Given the description of an element on the screen output the (x, y) to click on. 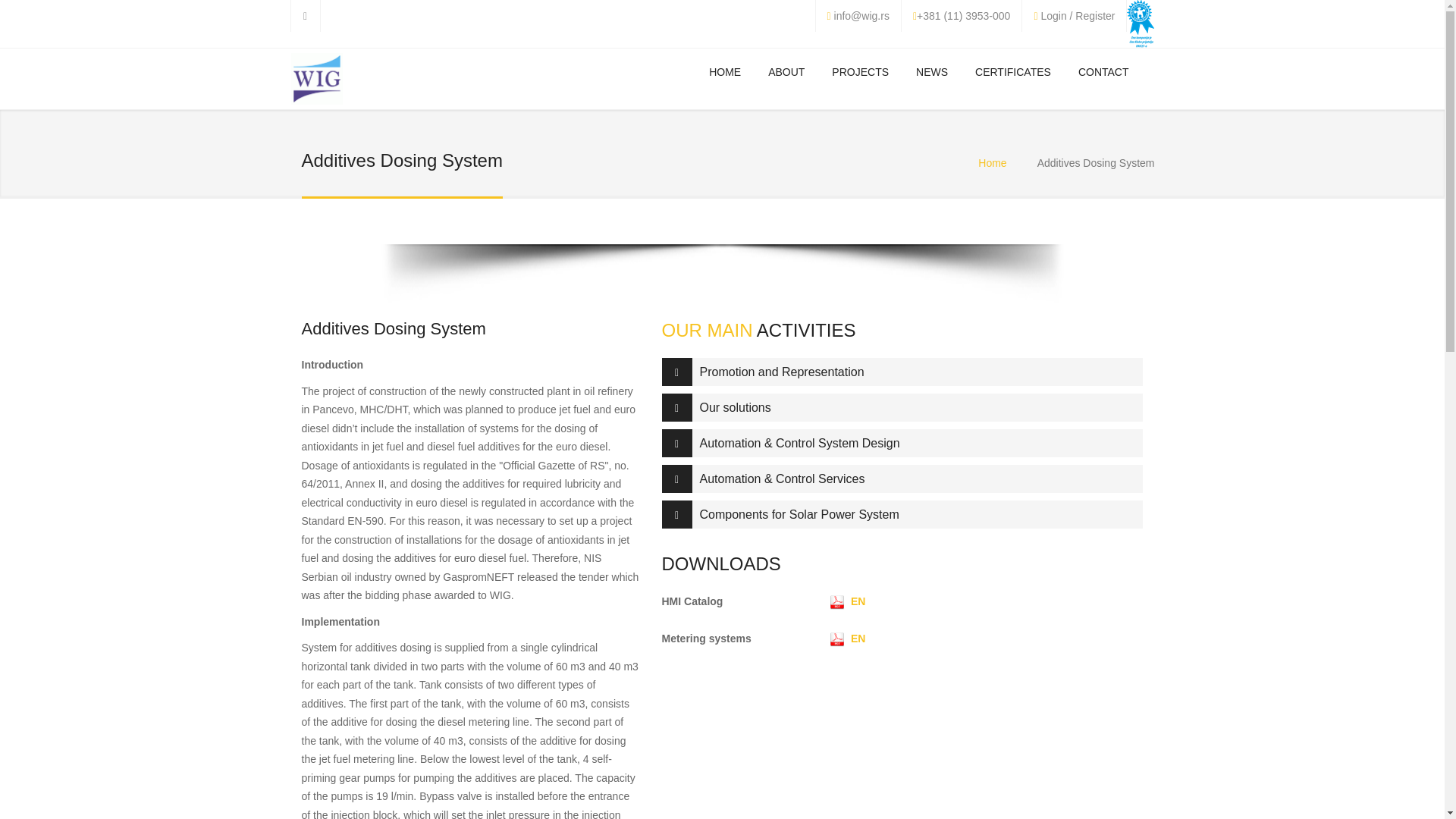
News (931, 71)
Login (1053, 15)
CONTACT (1103, 71)
CERTIFICATES (1012, 71)
Register (1095, 15)
Home (316, 81)
Our solutions (901, 407)
Home (992, 162)
ABOUT (786, 71)
PROJECTS (860, 71)
